Given the description of an element on the screen output the (x, y) to click on. 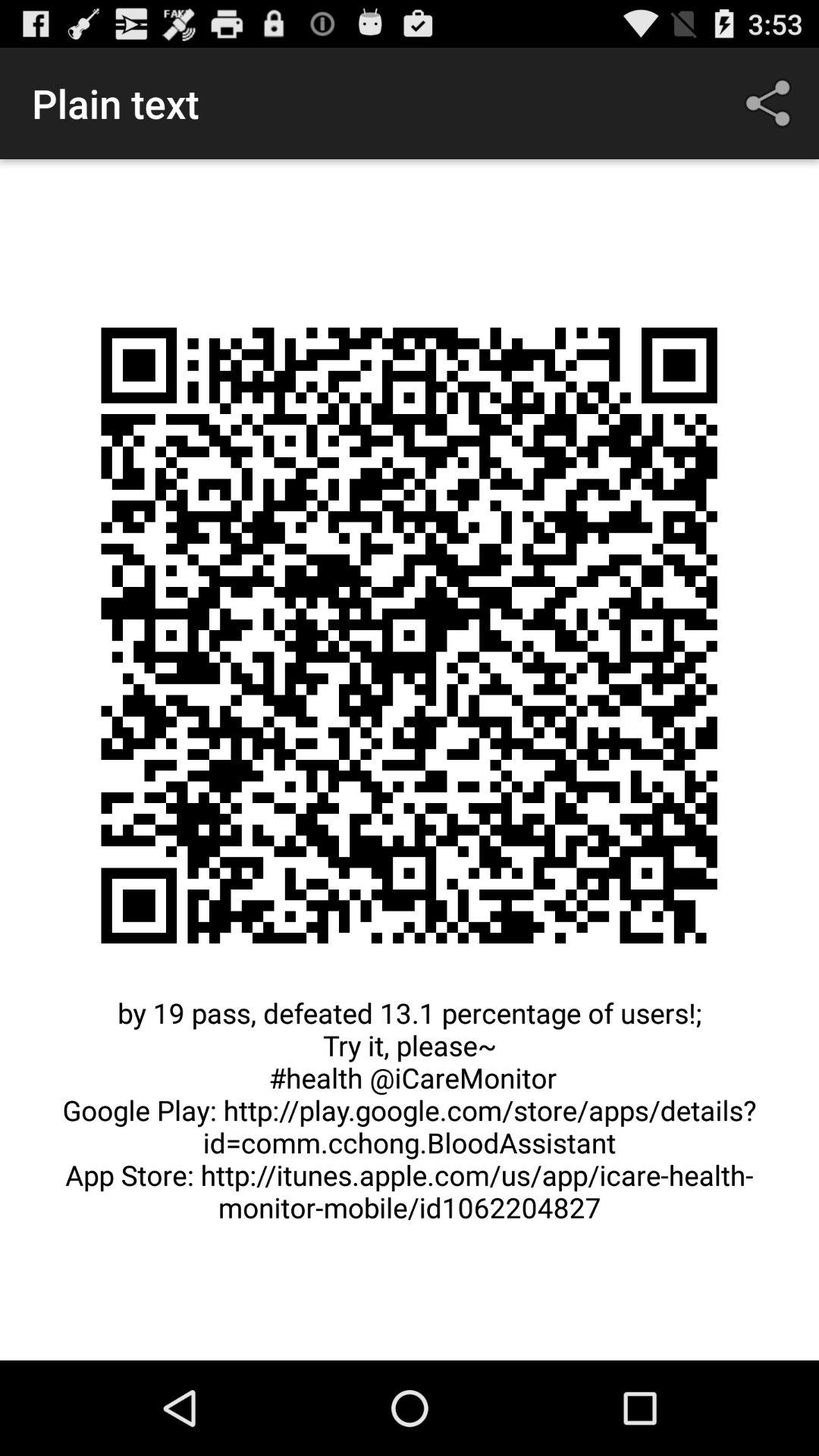
open icon at the top right corner (771, 103)
